Given the description of an element on the screen output the (x, y) to click on. 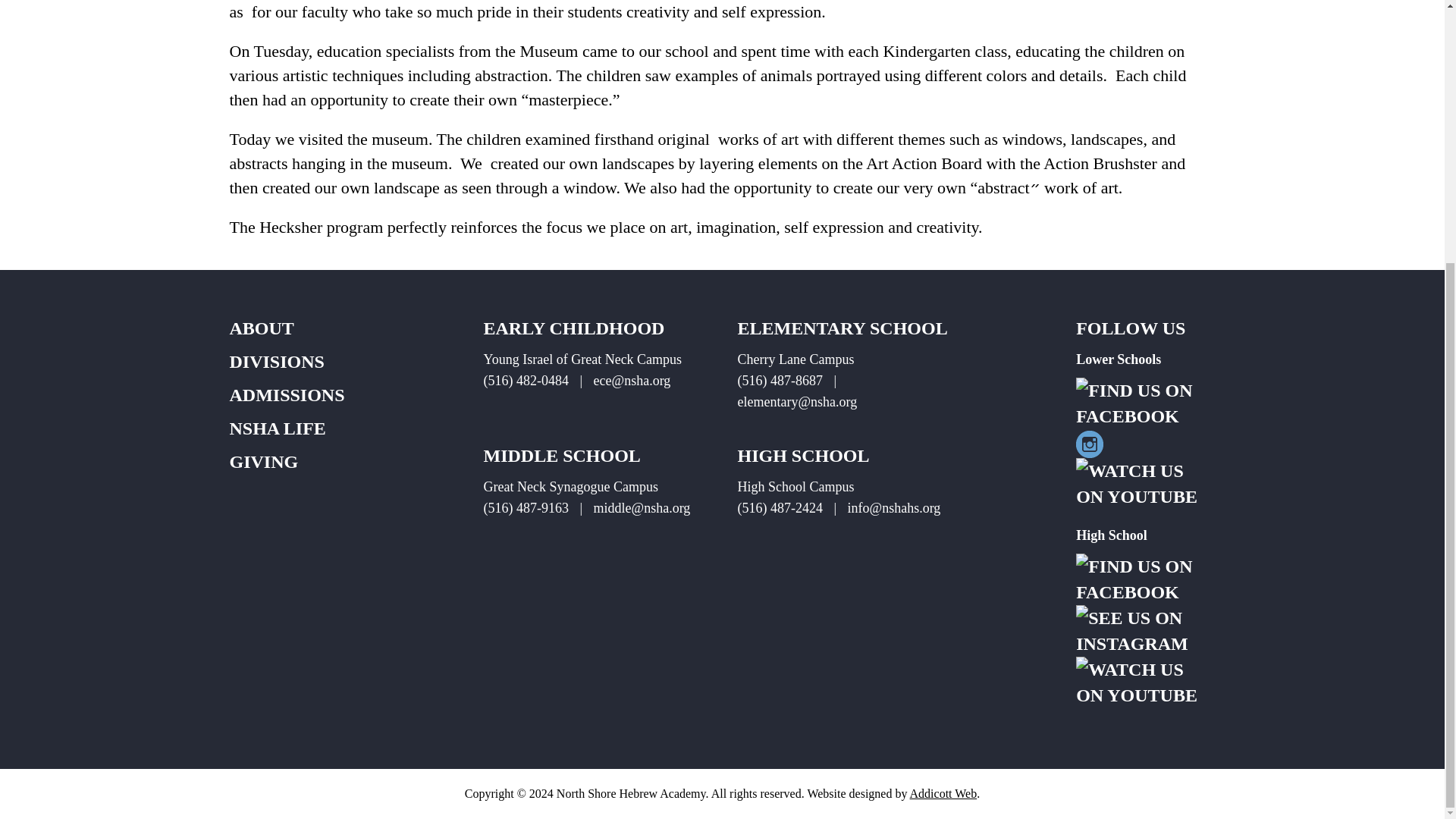
ABOUT (261, 328)
DIVISIONS (275, 361)
NSHA LIFE (276, 428)
ADMISSIONS (285, 394)
